Given the description of an element on the screen output the (x, y) to click on. 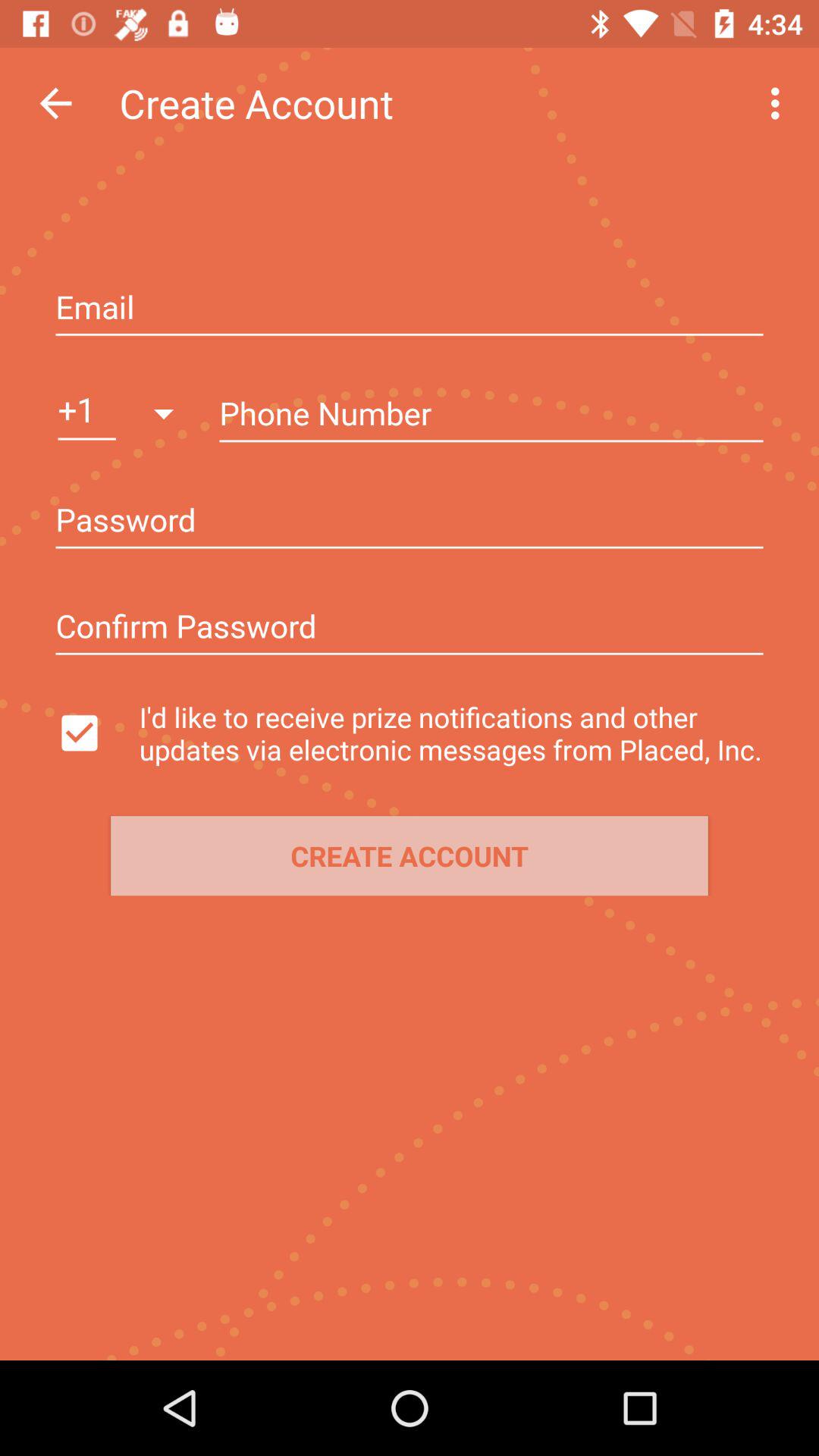
insert the password (409, 521)
